Given the description of an element on the screen output the (x, y) to click on. 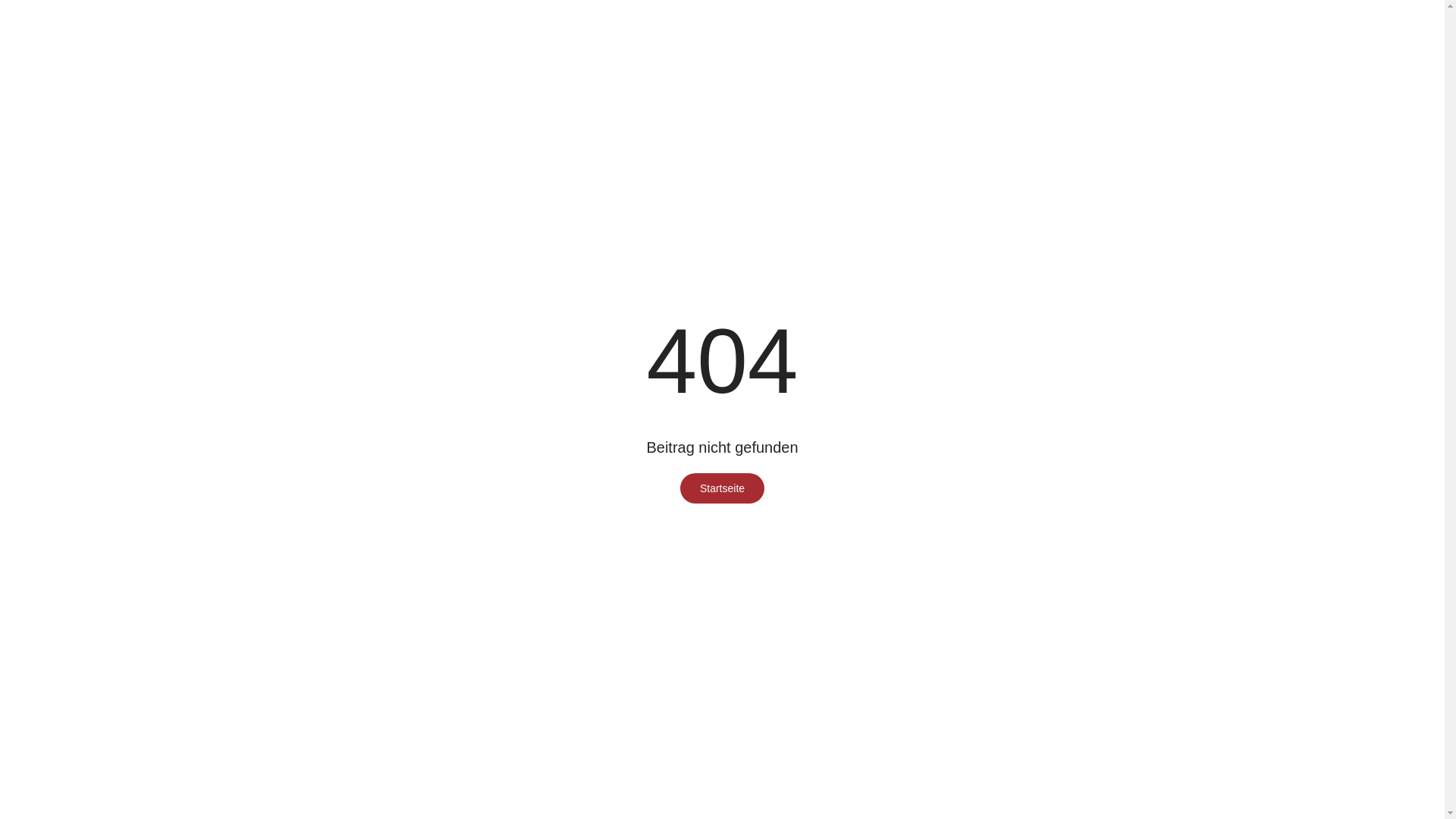
Startseite Element type: text (722, 488)
